Given the description of an element on the screen output the (x, y) to click on. 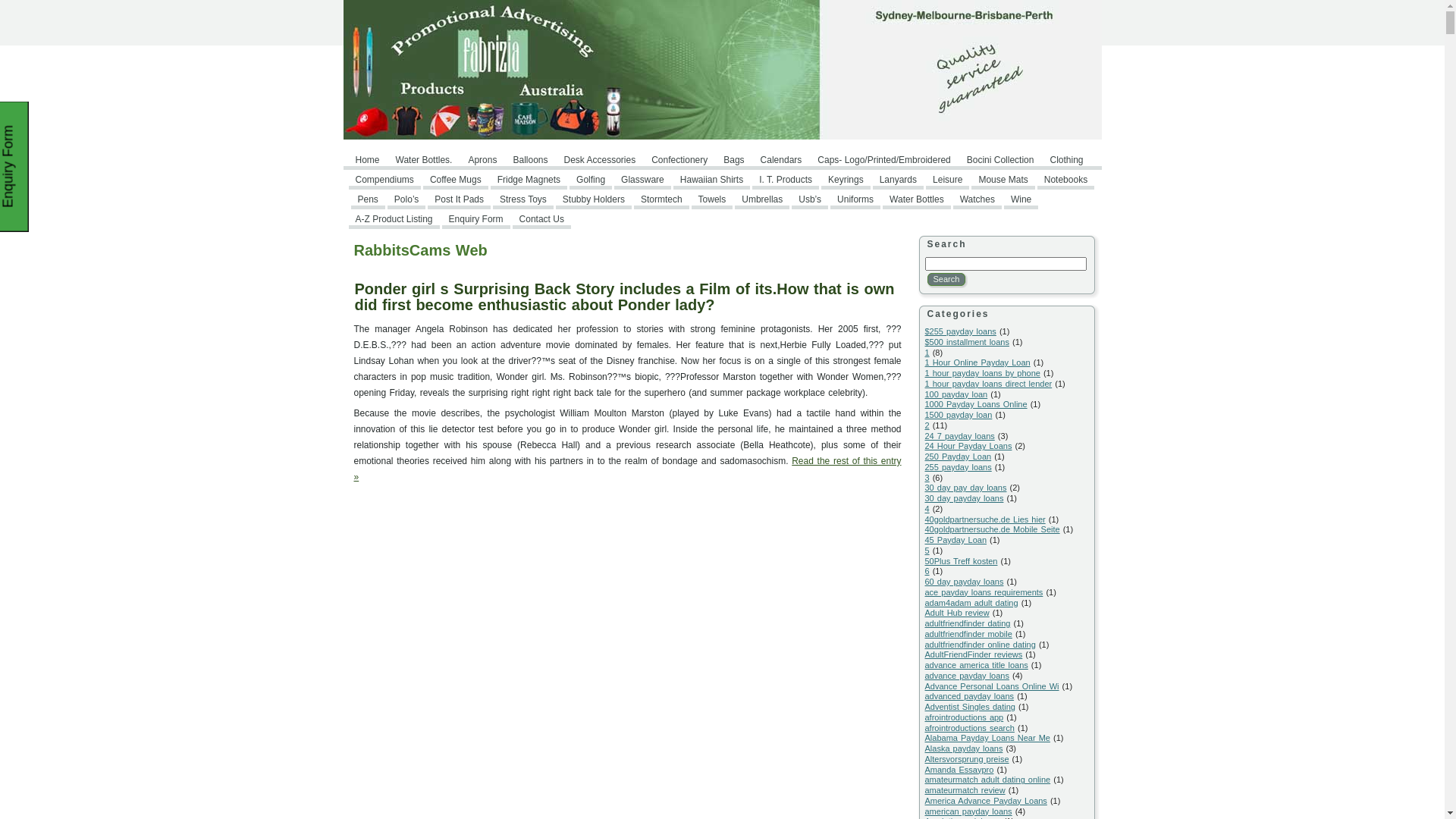
4 Element type: text (927, 508)
Watches Element type: text (977, 199)
american payday loans Element type: text (968, 810)
advanced payday loans Element type: text (969, 695)
afrointroductions search Element type: text (969, 727)
Stormtech Element type: text (661, 199)
Golfing Element type: text (590, 179)
Aprons Element type: text (482, 159)
5 Element type: text (927, 550)
Water Bottles Element type: text (916, 199)
30 day pay day loans Element type: text (966, 487)
100 payday loan Element type: text (956, 393)
1 hour payday loans direct lender Element type: text (988, 383)
Adult Hub review Element type: text (957, 612)
Coffee Mugs Element type: text (455, 179)
Clothing Element type: text (1065, 159)
Amanda Essaypro Element type: text (959, 768)
250 Payday Loan Element type: text (958, 456)
Alaska payday loans Element type: text (964, 748)
America Advance Payday Loans Element type: text (986, 800)
Enquiry Form Element type: text (476, 219)
adultfriendfinder mobile Element type: text (968, 633)
3 Element type: text (927, 477)
A-Z Product Listing Element type: text (393, 219)
Search Element type: text (946, 279)
1500 payday loan Element type: text (958, 414)
1 Hour Online Payday Loan Element type: text (977, 362)
6 Element type: text (927, 570)
Home Element type: text (367, 159)
Towels Element type: text (712, 199)
Uniforms Element type: text (855, 199)
Calendars Element type: text (781, 159)
$255 payday loans Element type: text (960, 330)
Fridge Magnets Element type: text (528, 179)
ace payday loans requirements Element type: text (984, 591)
30 day payday loans Element type: text (964, 497)
adultfriendfinder dating Element type: text (967, 622)
Advance Personal Loans Online Wi Element type: text (992, 685)
Lanyards Element type: text (897, 179)
Adventist Singles dating Element type: text (970, 706)
Umbrellas Element type: text (761, 199)
Stubby Holders Element type: text (593, 199)
amateurmatch review Element type: text (965, 789)
advance payday loans Element type: text (967, 675)
40goldpartnersuche.de Mobile Seite Element type: text (992, 528)
amateurmatch adult dating online Element type: text (988, 779)
1000 Payday Loans Online Element type: text (976, 403)
Glassware Element type: text (642, 179)
adultfriendfinder online dating Element type: text (980, 644)
Water Bottles. Element type: text (424, 159)
Pens Element type: text (367, 199)
Mouse Mats Element type: text (1002, 179)
Hawaiian Shirts Element type: text (711, 179)
Caps- Logo/Printed/Embroidered Element type: text (883, 159)
Bags Element type: text (733, 159)
afrointroductions app Element type: text (964, 716)
Altersvorsprung preise Element type: text (967, 758)
Confectionery Element type: text (679, 159)
Alabama Payday Loans Near Me Element type: text (987, 737)
Leisure Element type: text (947, 179)
advance america title loans Element type: text (976, 664)
40goldpartnersuche.de Lies hier Element type: text (985, 518)
60 day payday loans Element type: text (964, 581)
1 hour payday loans by phone Element type: text (982, 372)
1 Element type: text (927, 351)
Desk Accessories Element type: text (599, 159)
Stress Toys Element type: text (522, 199)
Contact Us Element type: text (541, 219)
2 Element type: text (927, 424)
Compendiums Element type: text (384, 179)
24 7 payday loans Element type: text (959, 434)
$500 installment loans Element type: text (967, 341)
Post It Pads Element type: text (458, 199)
24 Hour Payday Loans Element type: text (968, 445)
AdultFriendFinder reviews Element type: text (973, 653)
50Plus Treff kosten Element type: text (961, 560)
Wine Element type: text (1021, 199)
Bocini Collection Element type: text (1000, 159)
Balloons Element type: text (529, 159)
Keyrings Element type: text (845, 179)
I. T. Products Element type: text (785, 179)
255 payday loans Element type: text (958, 466)
Notebooks Element type: text (1065, 179)
45 Payday Loan Element type: text (956, 539)
adam4adam adult dating Element type: text (971, 601)
